Given the description of an element on the screen output the (x, y) to click on. 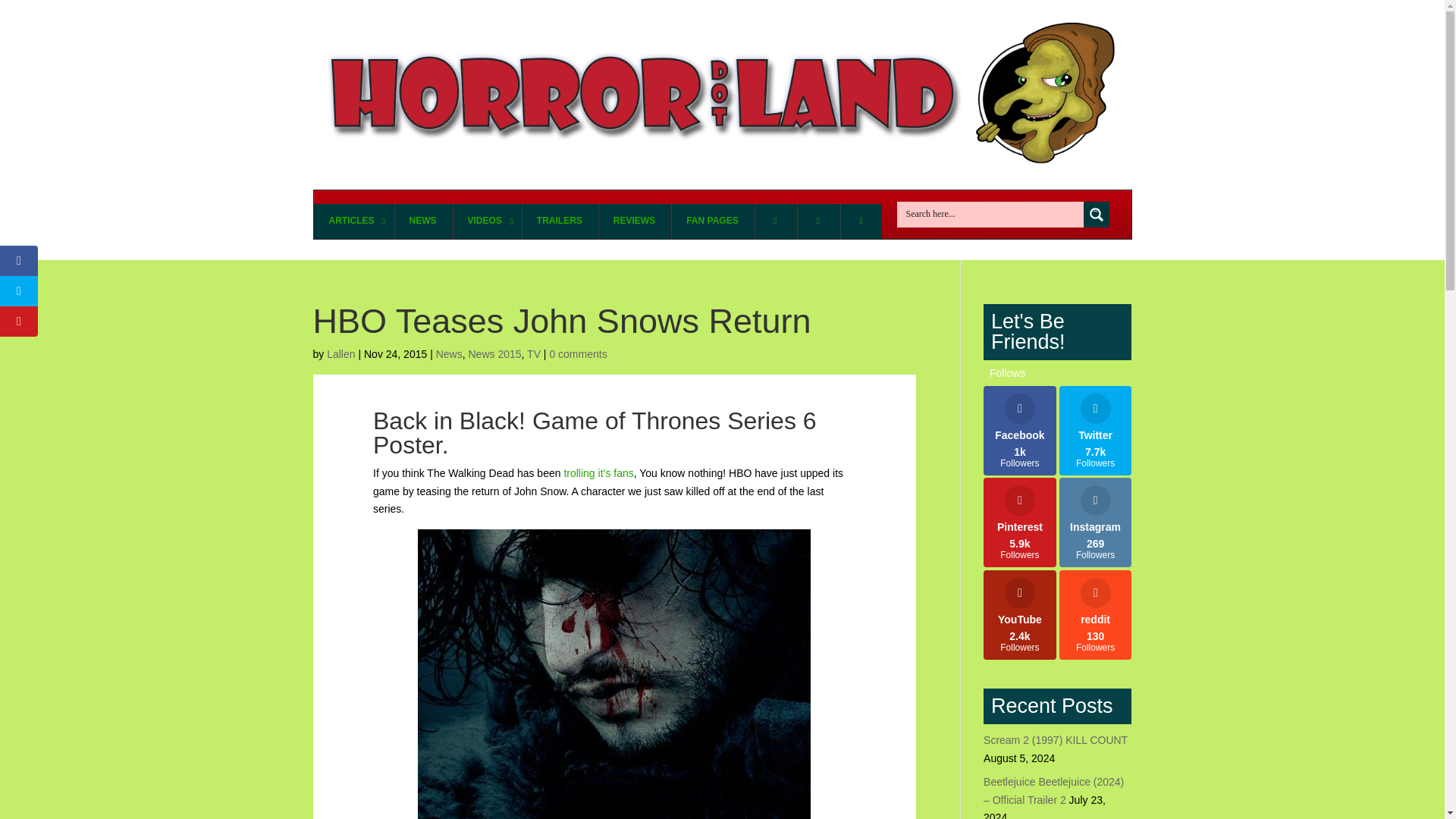
ARTICLES (353, 221)
Posts by Lallen (340, 354)
NEWS (722, 214)
VIDEOS (422, 221)
Horror-Dot-Land-w-Logo-v1 (486, 221)
